Given the description of an element on the screen output the (x, y) to click on. 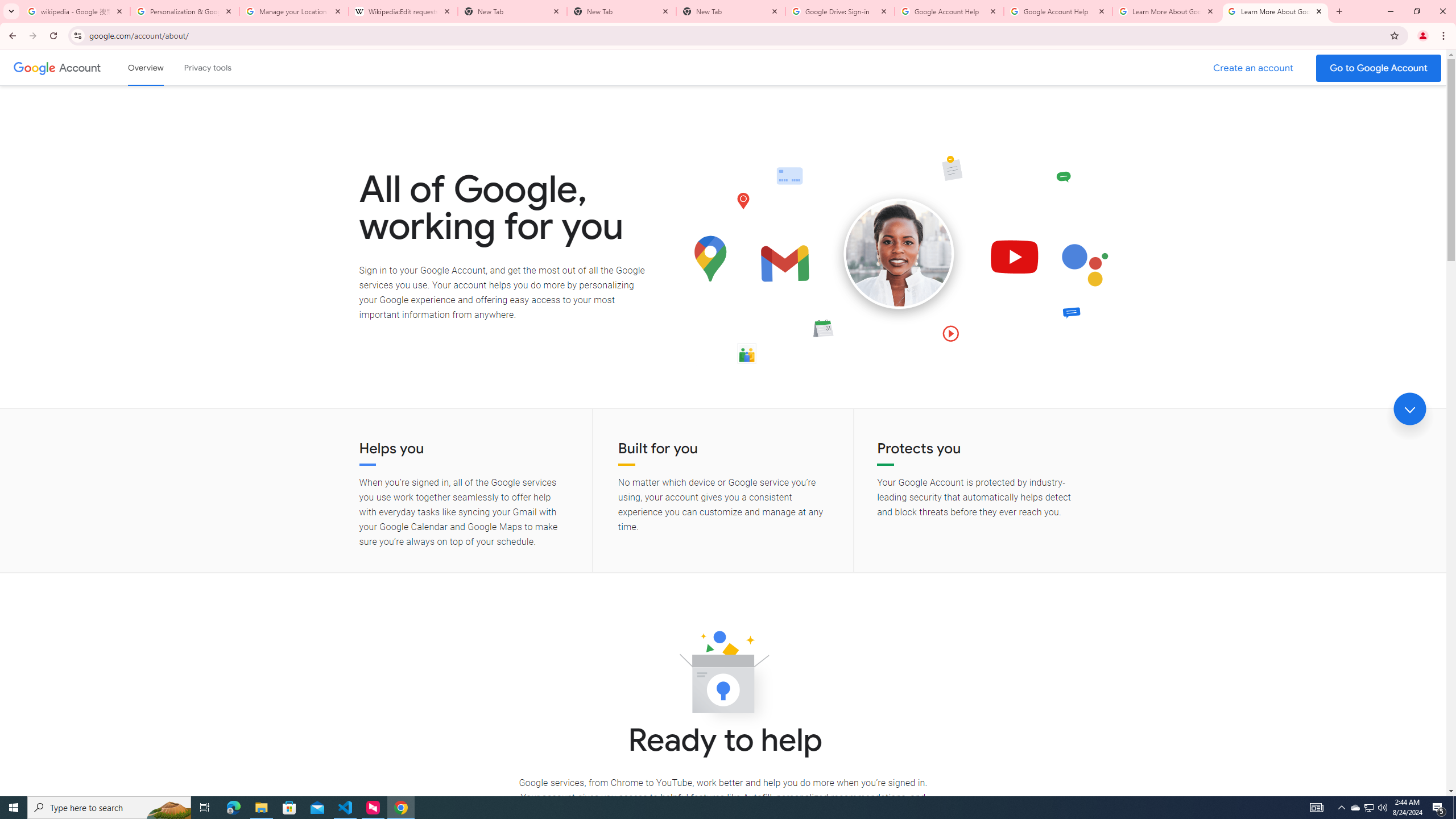
Privacy tools (207, 67)
Jump link (1409, 408)
Google Drive: Sign-in (839, 11)
Google logo (34, 67)
Go to your Google Account (1378, 67)
New Tab (730, 11)
